Given the description of an element on the screen output the (x, y) to click on. 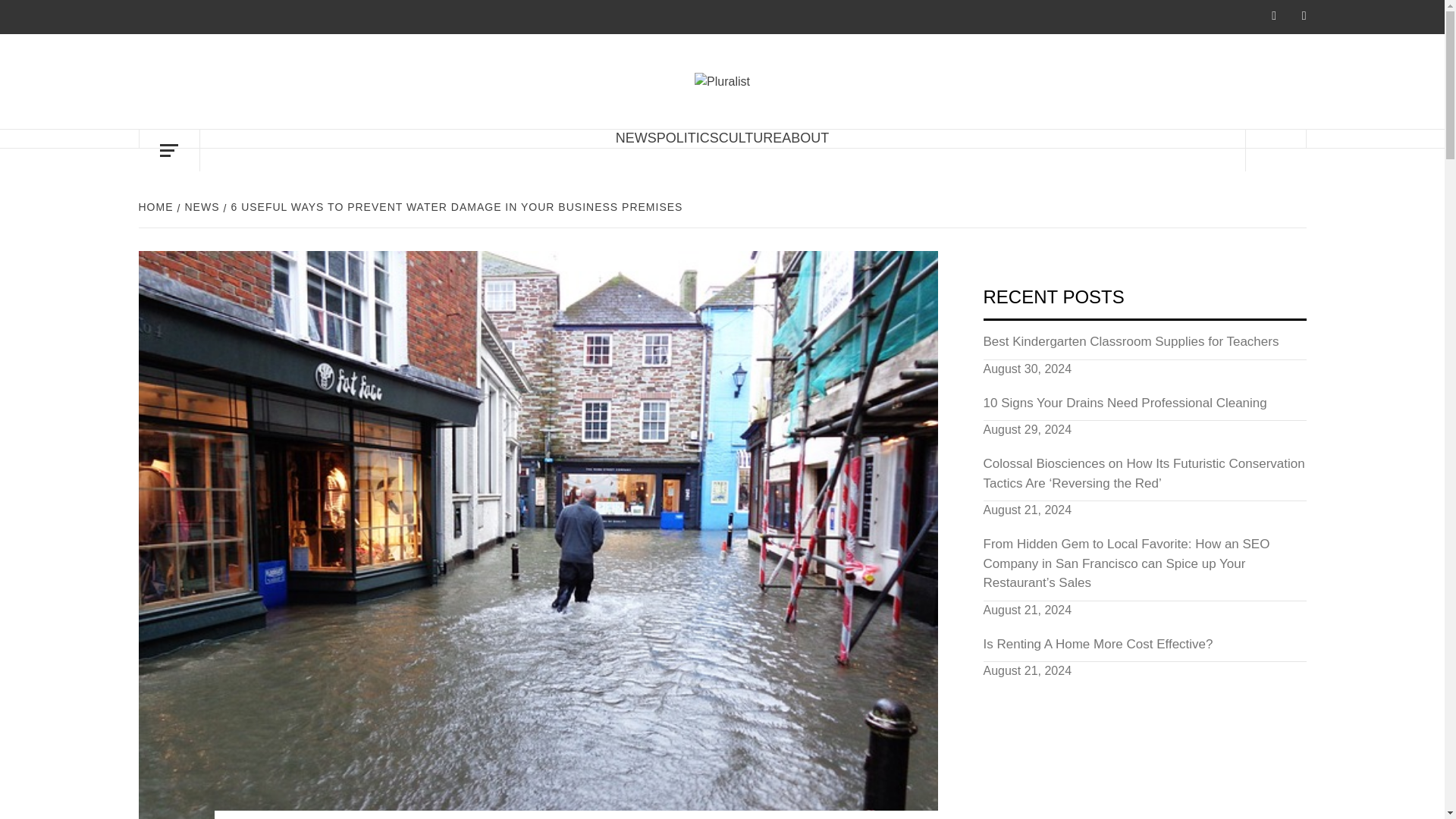
ABOUT (804, 137)
HOME (157, 206)
CULTURE (751, 137)
Best Kindergarten Classroom Supplies for Teachers (1144, 346)
PLURALIST (852, 95)
POLITICS (687, 137)
NEWS (200, 206)
NEWS (635, 137)
Is Renting A Home More Cost Effective? (1144, 648)
10 Signs Your Drains Need Professional Cleaning (1144, 407)
